Given the description of an element on the screen output the (x, y) to click on. 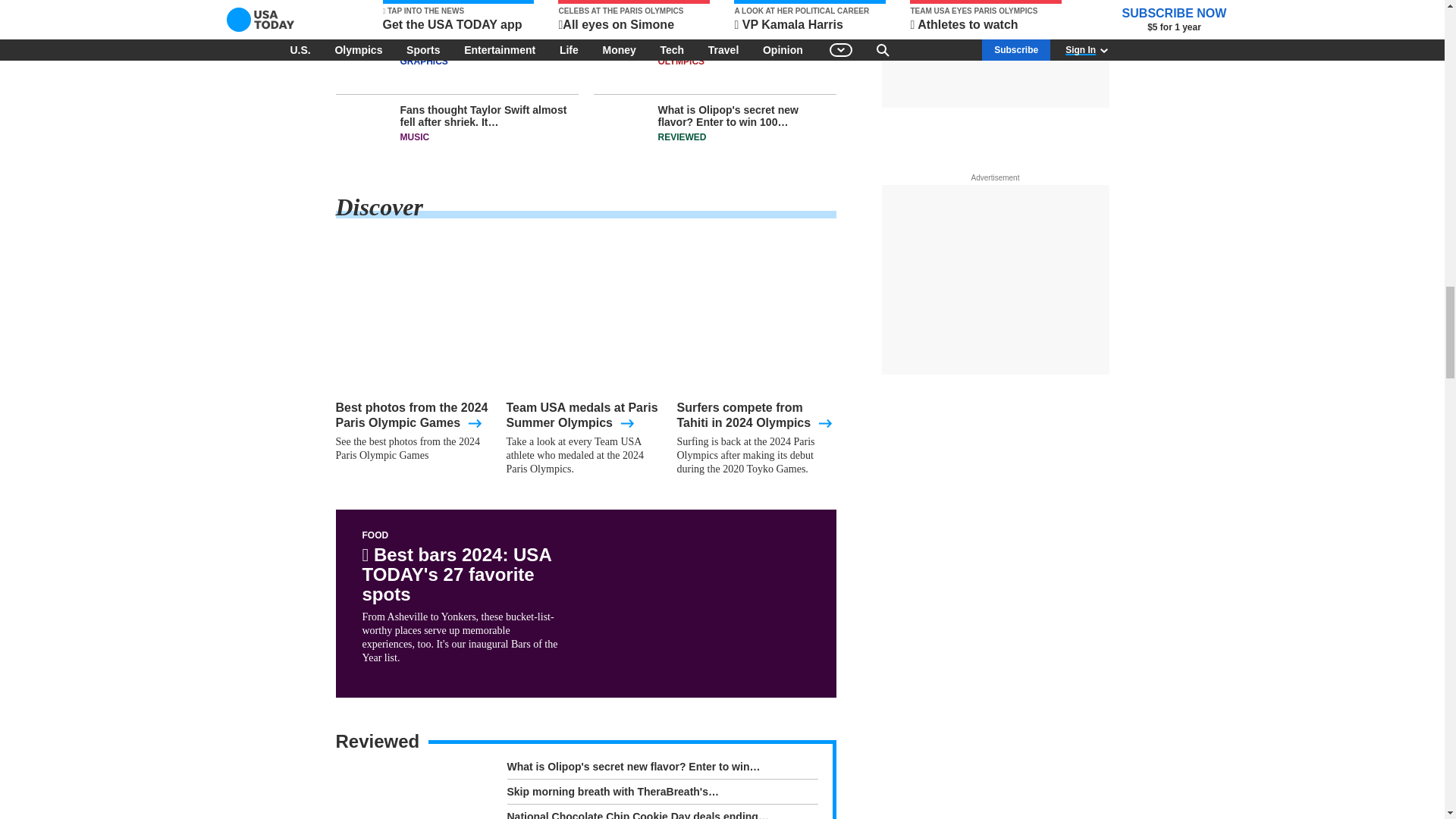
How to stay cool, avoid sunburns in dangerous summer temps (713, 9)
National Chocolate Chip Cookie Day deals ending soon (661, 814)
